Given the description of an element on the screen output the (x, y) to click on. 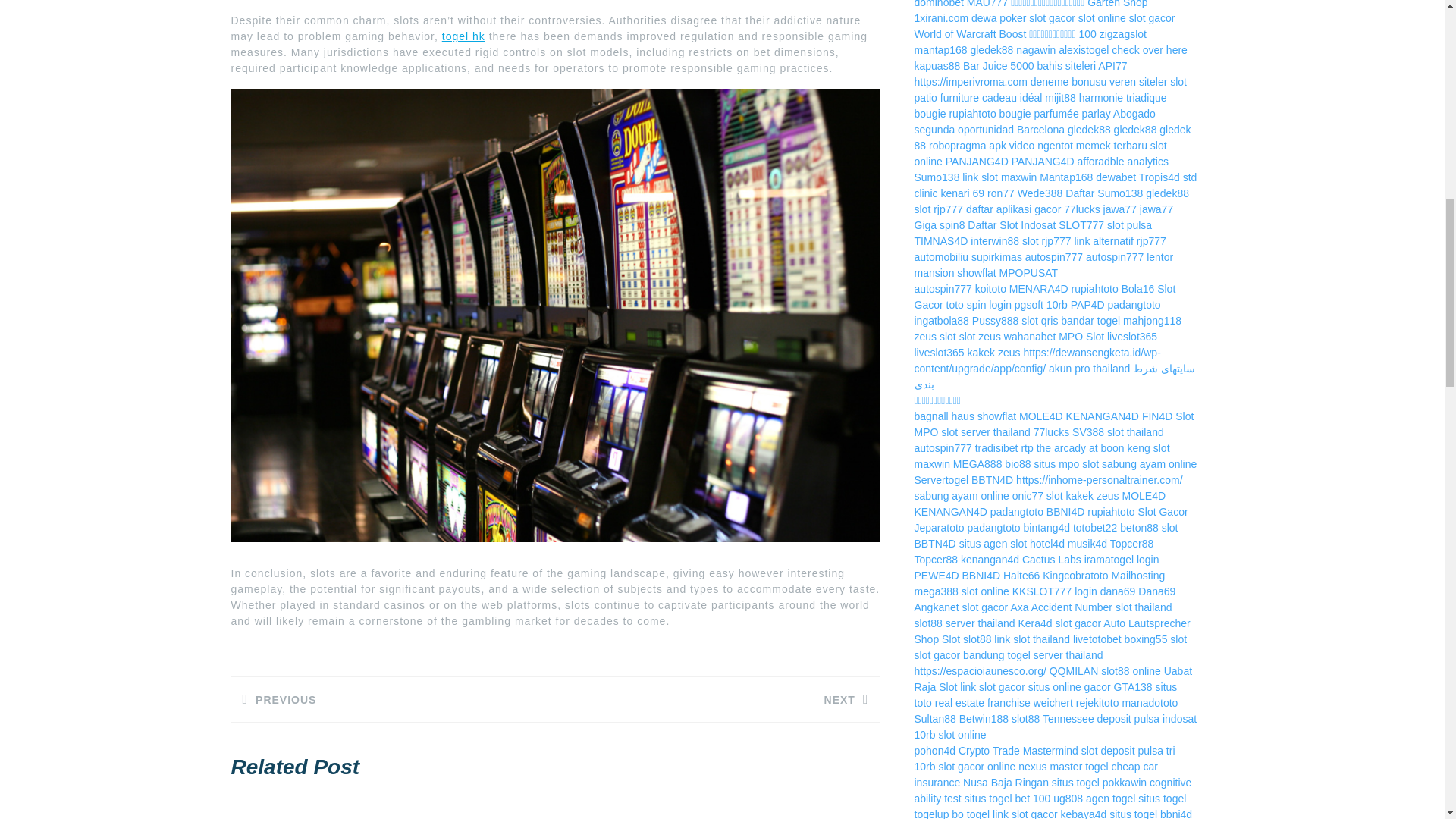
togel hk (716, 699)
